Given the description of an element on the screen output the (x, y) to click on. 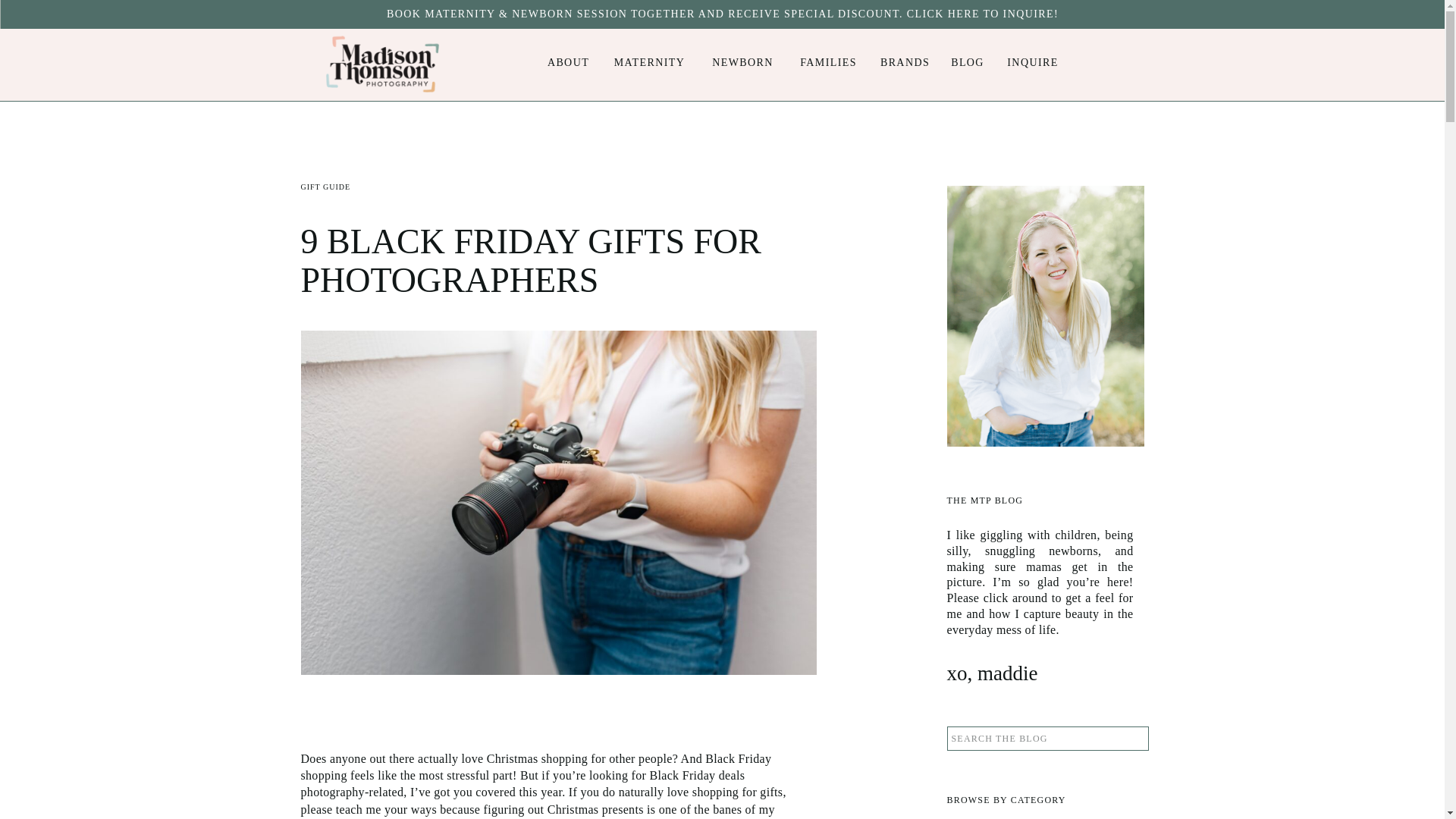
FAMILIES (828, 62)
INQUIRE (1032, 62)
ABOUT (567, 62)
MATERNITY (649, 62)
BRANDS (905, 62)
BLOG (968, 62)
GIFT GUIDE (324, 186)
NEWBORN (741, 62)
